Given the description of an element on the screen output the (x, y) to click on. 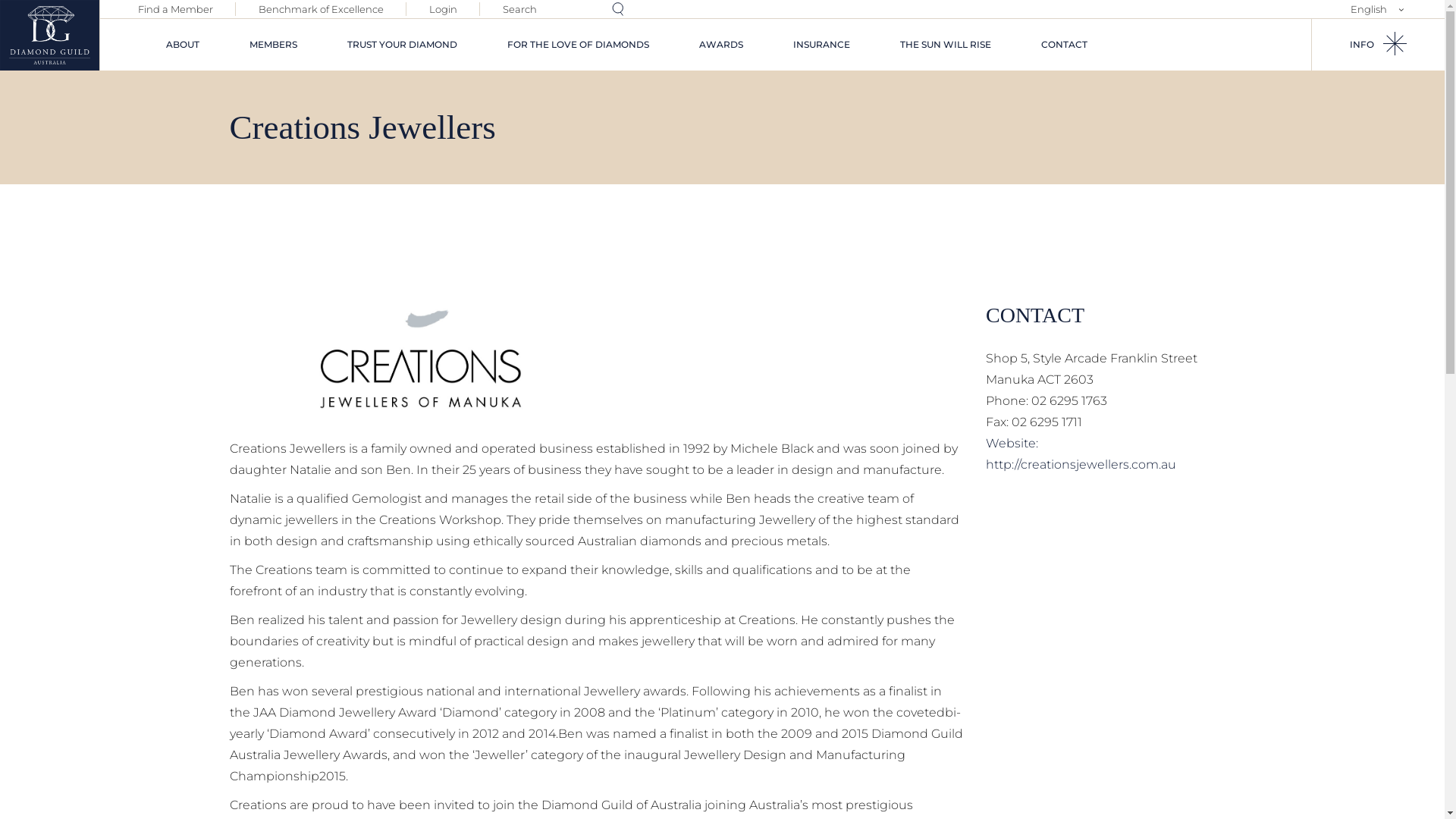
FOR THE LOVE OF DIAMONDS Element type: text (578, 44)
MEMBERS Element type: text (273, 44)
AWARDS Element type: text (721, 44)
Find a Member Element type: text (175, 9)
ABOUT Element type: text (182, 44)
INFO Element type: text (1377, 44)
TRUST YOUR DIAMOND Element type: text (402, 44)
Website: http://creationsjewellers.com.au Element type: text (1080, 453)
Login Element type: text (443, 9)
CONTACT Element type: text (1064, 44)
Benchmark of Excellence Element type: text (320, 9)
INSURANCE Element type: text (821, 44)
THE SUN WILL RISE Element type: text (945, 44)
